Given the description of an element on the screen output the (x, y) to click on. 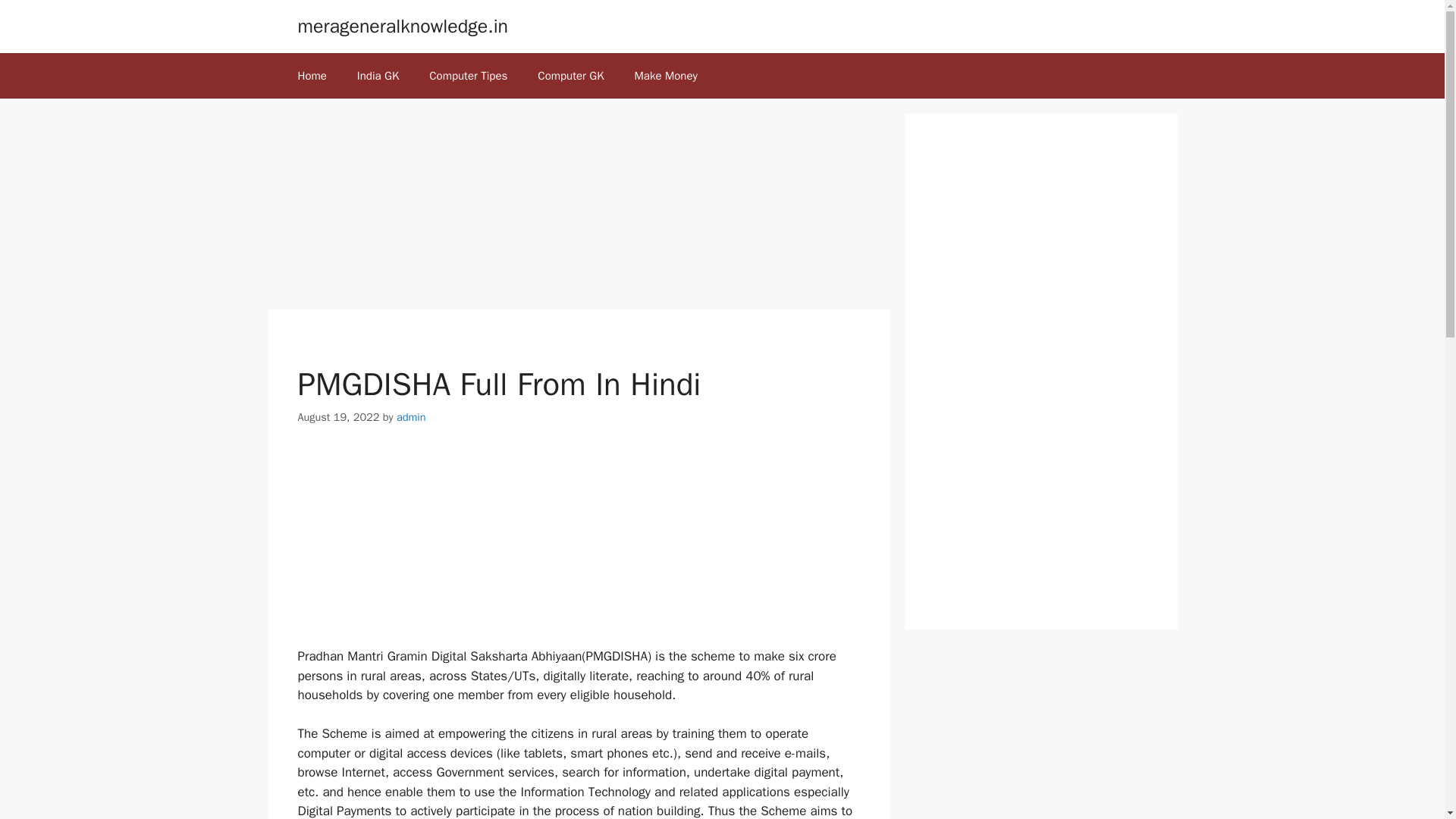
admin (411, 417)
India GK (377, 75)
Computer GK (570, 75)
merageneralknowledge.in (402, 25)
Computer Tipes (467, 75)
Make Money (666, 75)
View all posts by admin (411, 417)
Home (311, 75)
